Given the description of an element on the screen output the (x, y) to click on. 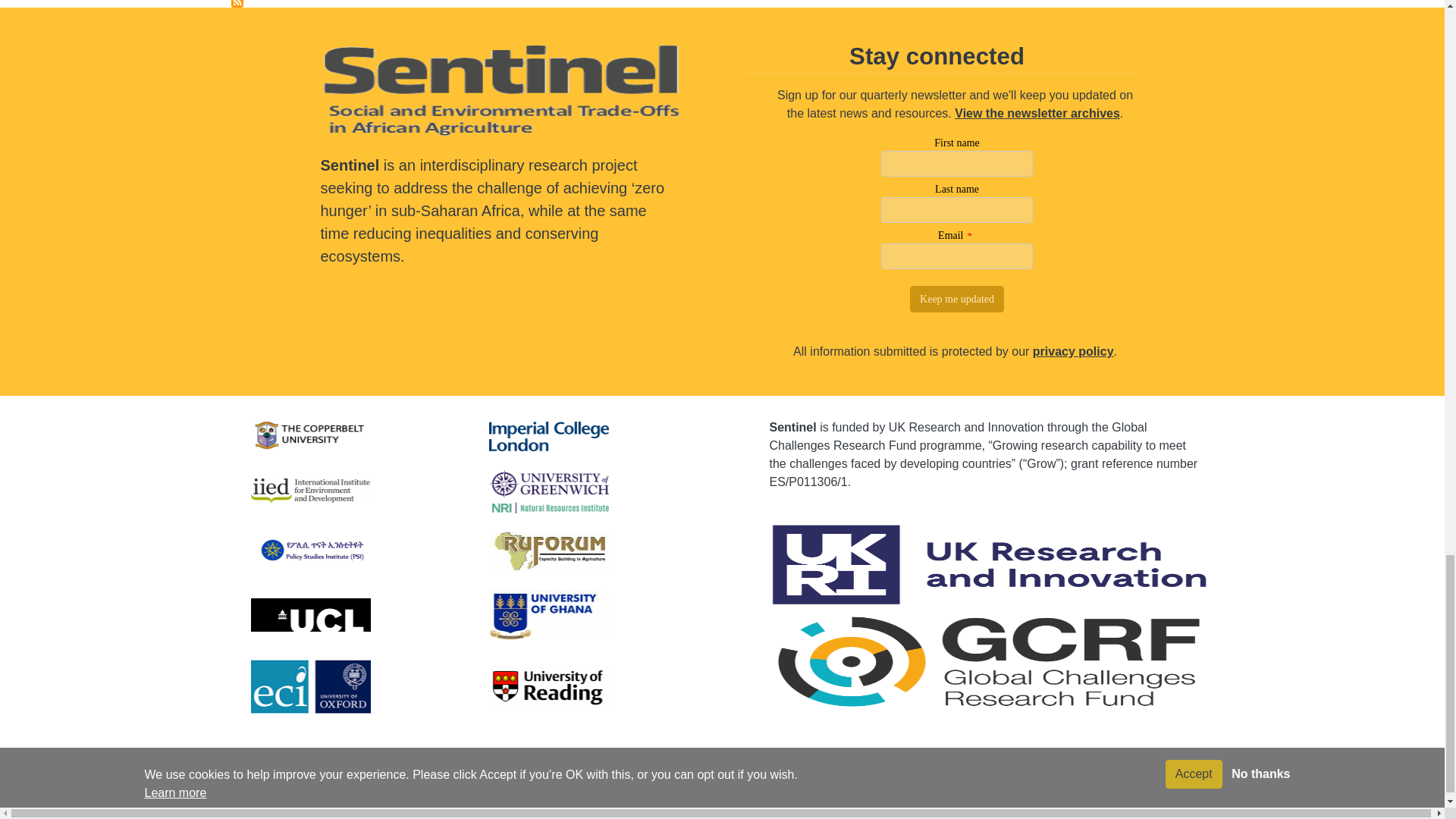
Privacy policy (475, 788)
University of Greenwich logo (547, 491)
Subscribe to Blogs page (236, 3)
About (329, 788)
Keep me updated (957, 298)
Imperial College London logo (547, 436)
privacy policy (1072, 350)
IIED logo (310, 490)
Copperbelt University logo (310, 436)
Contact (391, 788)
View the newsletter archives (1037, 113)
